Given the description of an element on the screen output the (x, y) to click on. 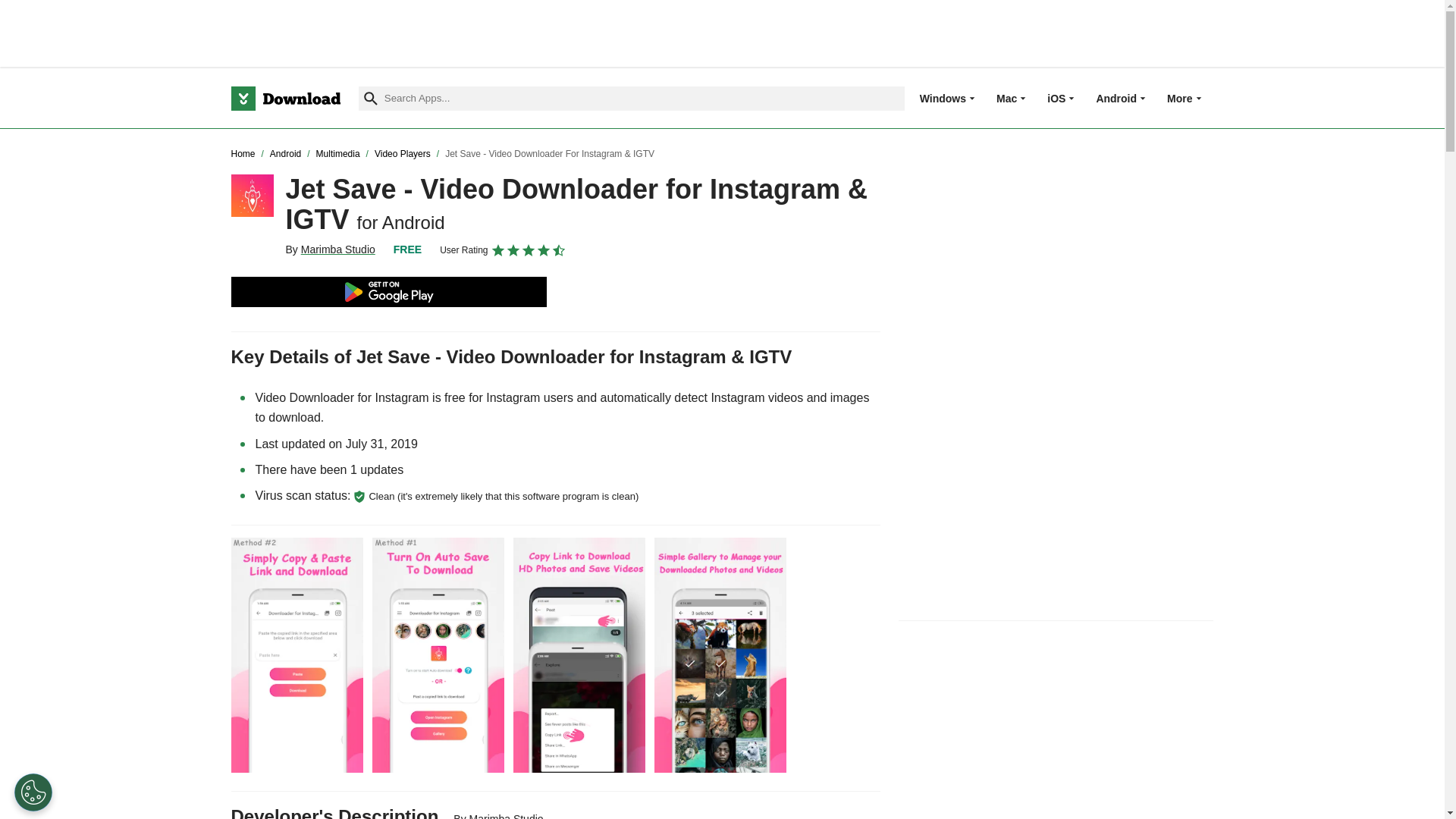
Windows (943, 97)
Mac (1005, 97)
Get it on Google Play (388, 291)
